Given the description of an element on the screen output the (x, y) to click on. 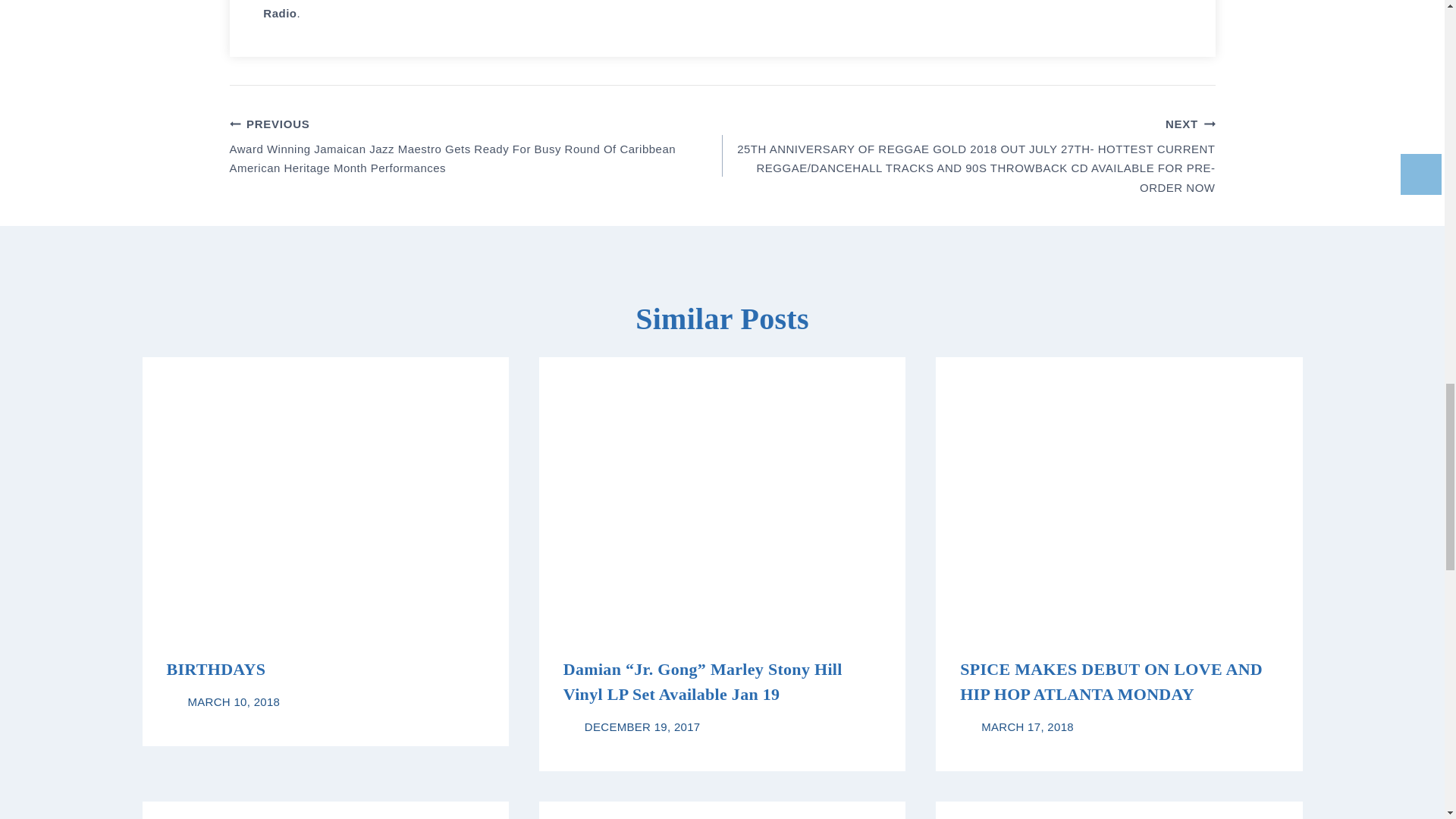
SPICE MAKES DEBUT ON LOVE AND HIP HOP ATLANTA MONDAY (1110, 681)
BIRTHDAYS (216, 669)
